Given the description of an element on the screen output the (x, y) to click on. 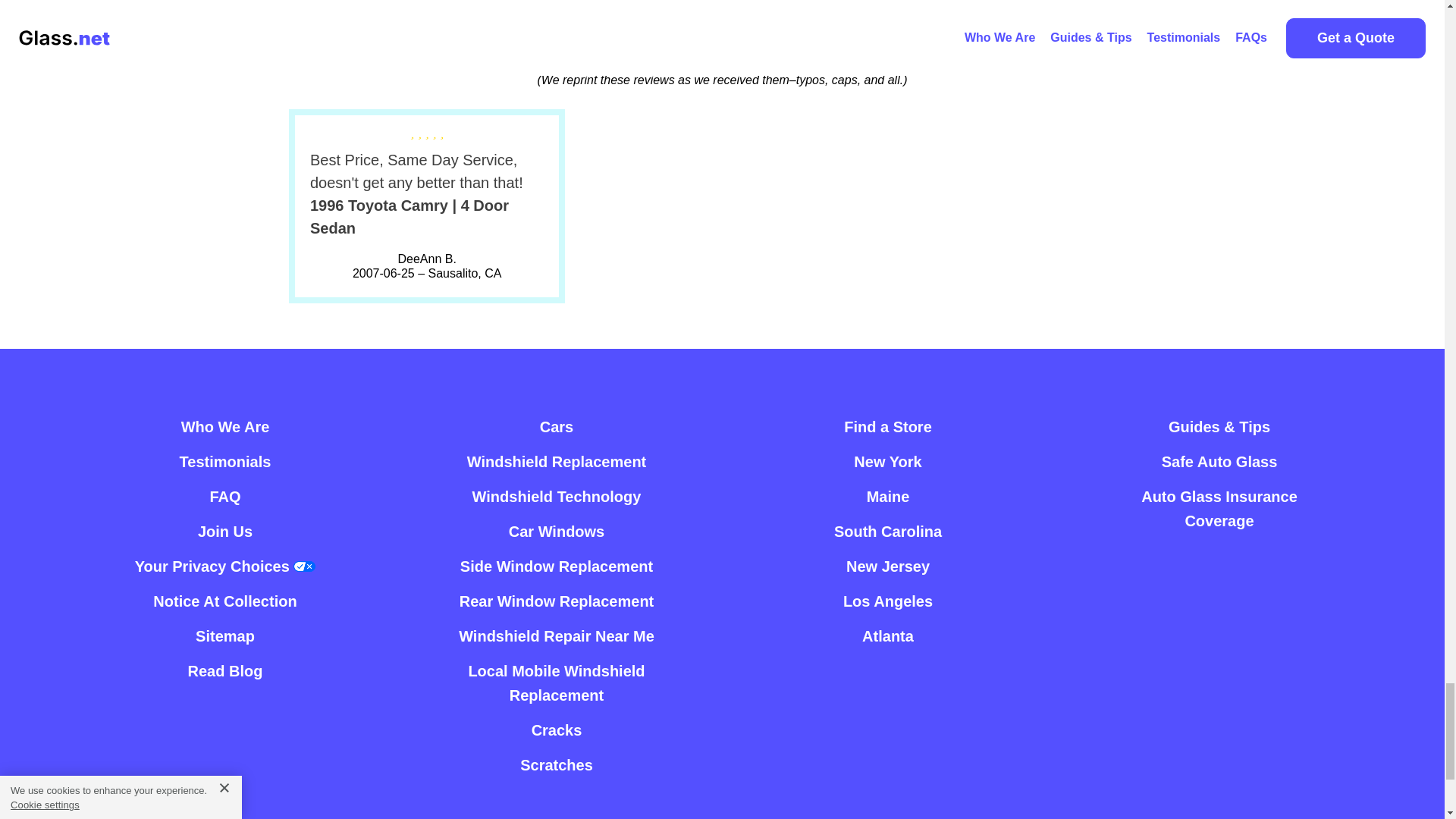
Windshield Technology (556, 496)
Join Us (224, 531)
Windshield Repair Near Me (555, 636)
Sitemap (224, 636)
Your Privacy Choices (225, 565)
A Market Place for Car Glass (224, 426)
Rear Window Replacement (556, 601)
 Local Windshield Replacement (556, 461)
Cars (556, 426)
Glass.NET Website Sitemap  (224, 636)
